Given the description of an element on the screen output the (x, y) to click on. 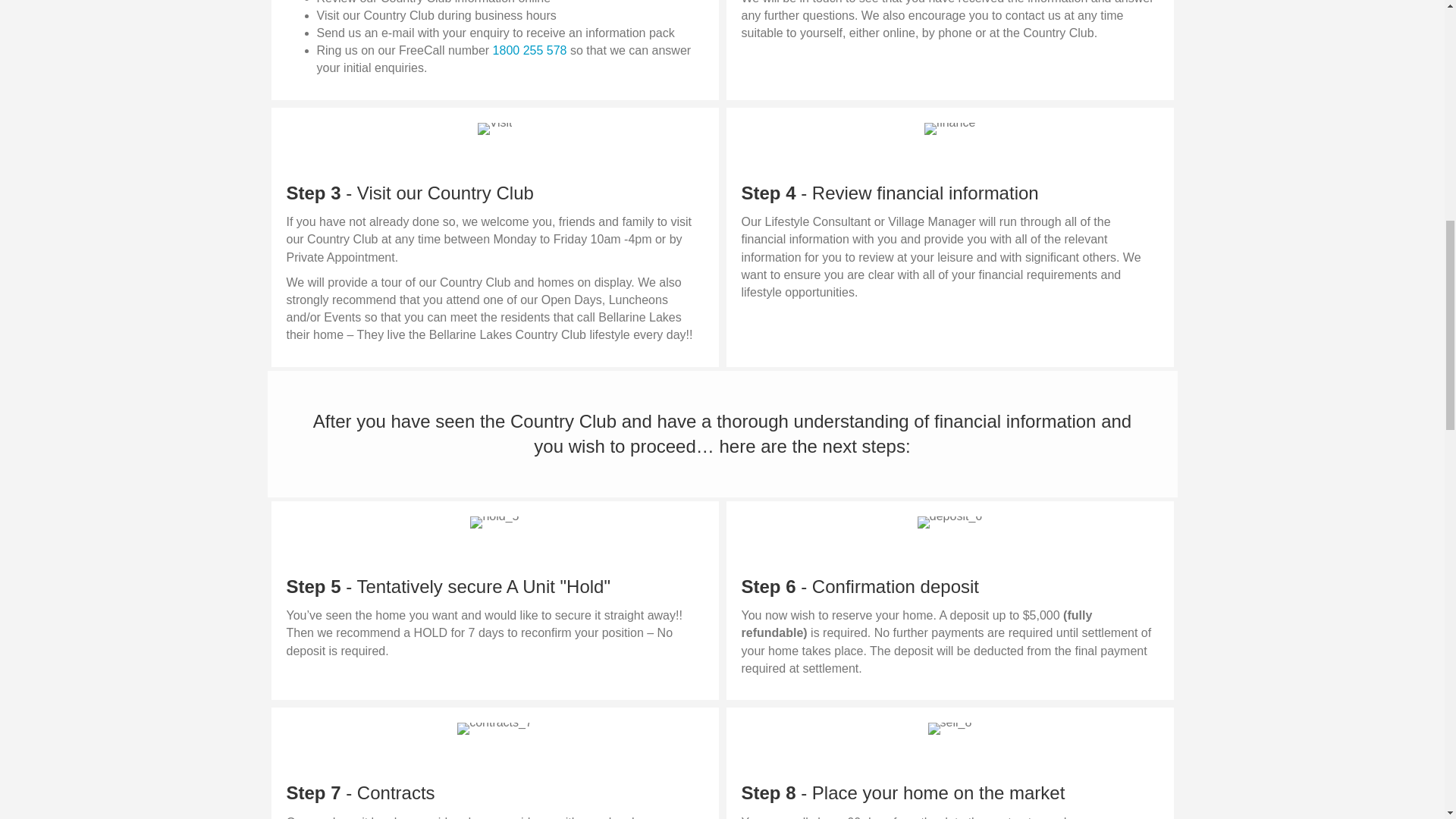
finance (949, 128)
